Given the description of an element on the screen output the (x, y) to click on. 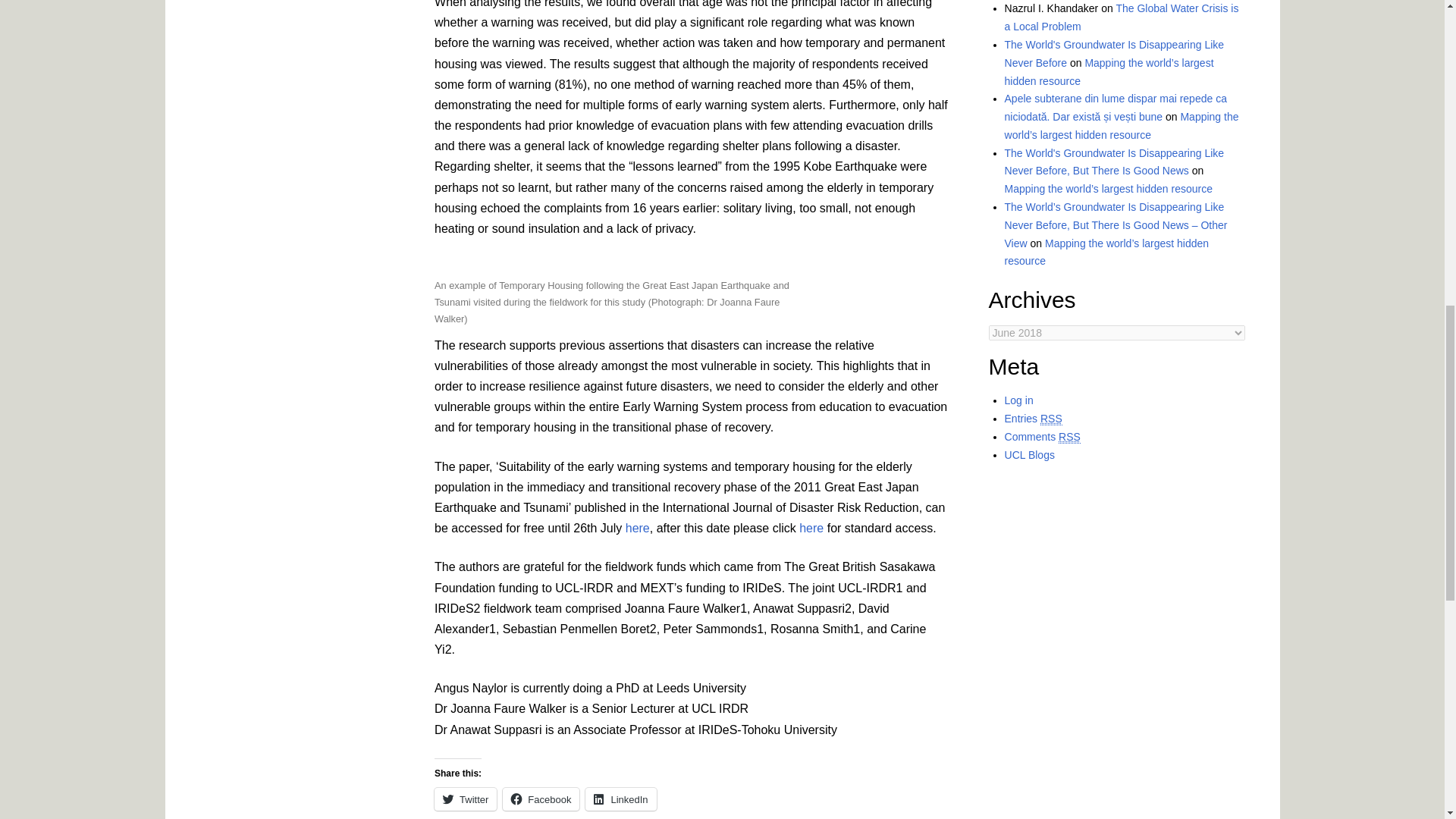
here (811, 527)
Really Simple Syndication (1051, 418)
here (637, 527)
Click to share on LinkedIn (620, 798)
The latest comments to all posts in RSS (1042, 436)
Powered by UCL Blogs (1029, 454)
LinkedIn (620, 798)
Syndicate this site using RSS 2.0 (1033, 418)
Really Simple Syndication (1069, 436)
Click to share on Facebook (540, 798)
Twitter (464, 798)
Facebook (540, 798)
Click to share on Twitter (464, 798)
